Given the description of an element on the screen output the (x, y) to click on. 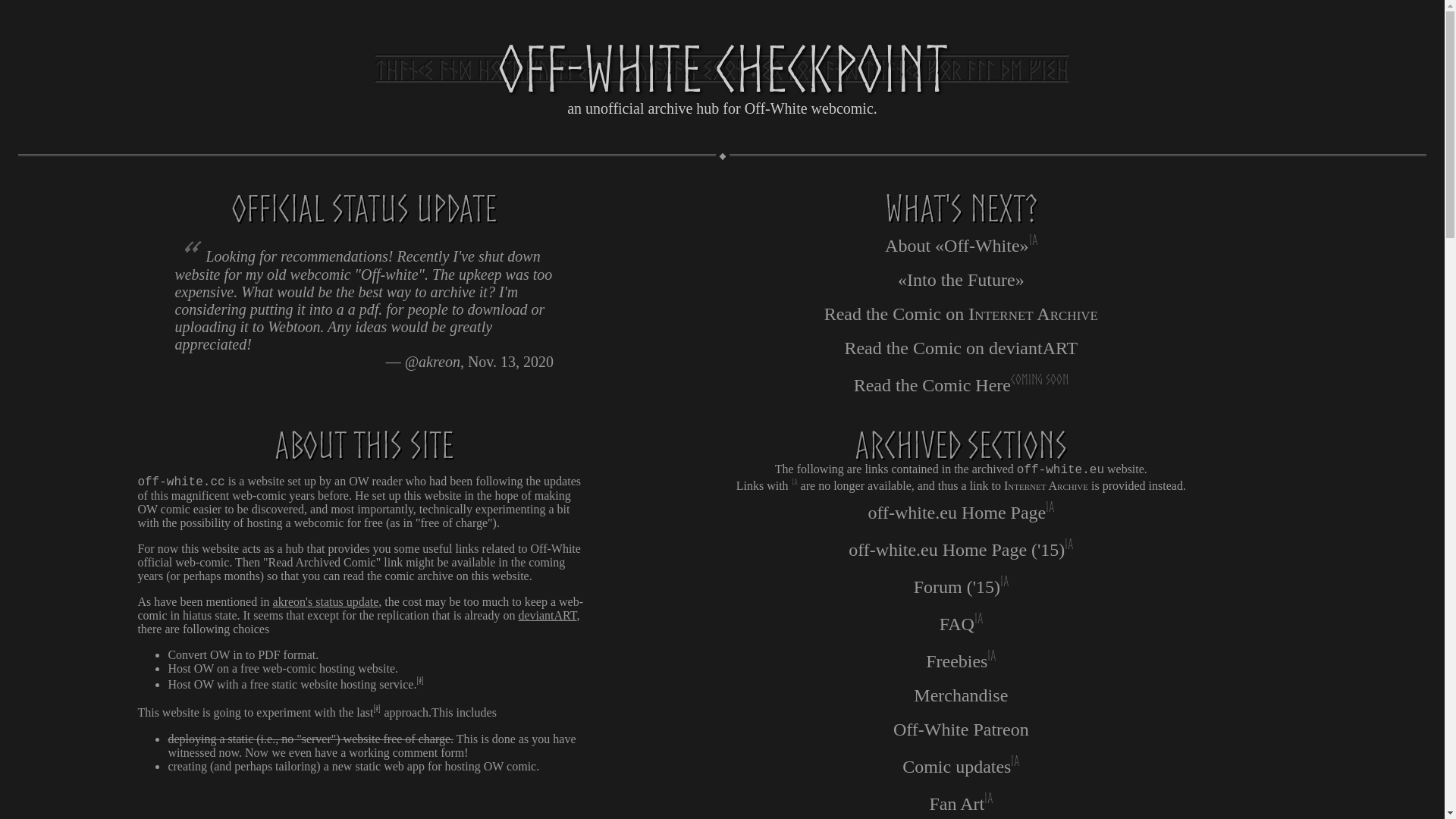
Read the Comic on Internet Archive Element type: text (960, 314)
off-white.eu Home PageIA Element type: text (960, 511)
FAQIA Element type: text (960, 622)
Forum ('15)IA Element type: text (960, 585)
Read the Comic on deviantART Element type: text (960, 348)
Read the Comic Herecoming soon Element type: text (960, 383)
akreon's status update Element type: text (326, 601)
Off-White Patreon Element type: text (960, 729)
Merchandise Element type: text (960, 695)
Comic updatesIA Element type: text (960, 765)
off-white.eu Home Page ('15)IA Element type: text (960, 548)
deviantART Element type: text (546, 614)
FreebiesIA Element type: text (960, 659)
